Given the description of an element on the screen output the (x, y) to click on. 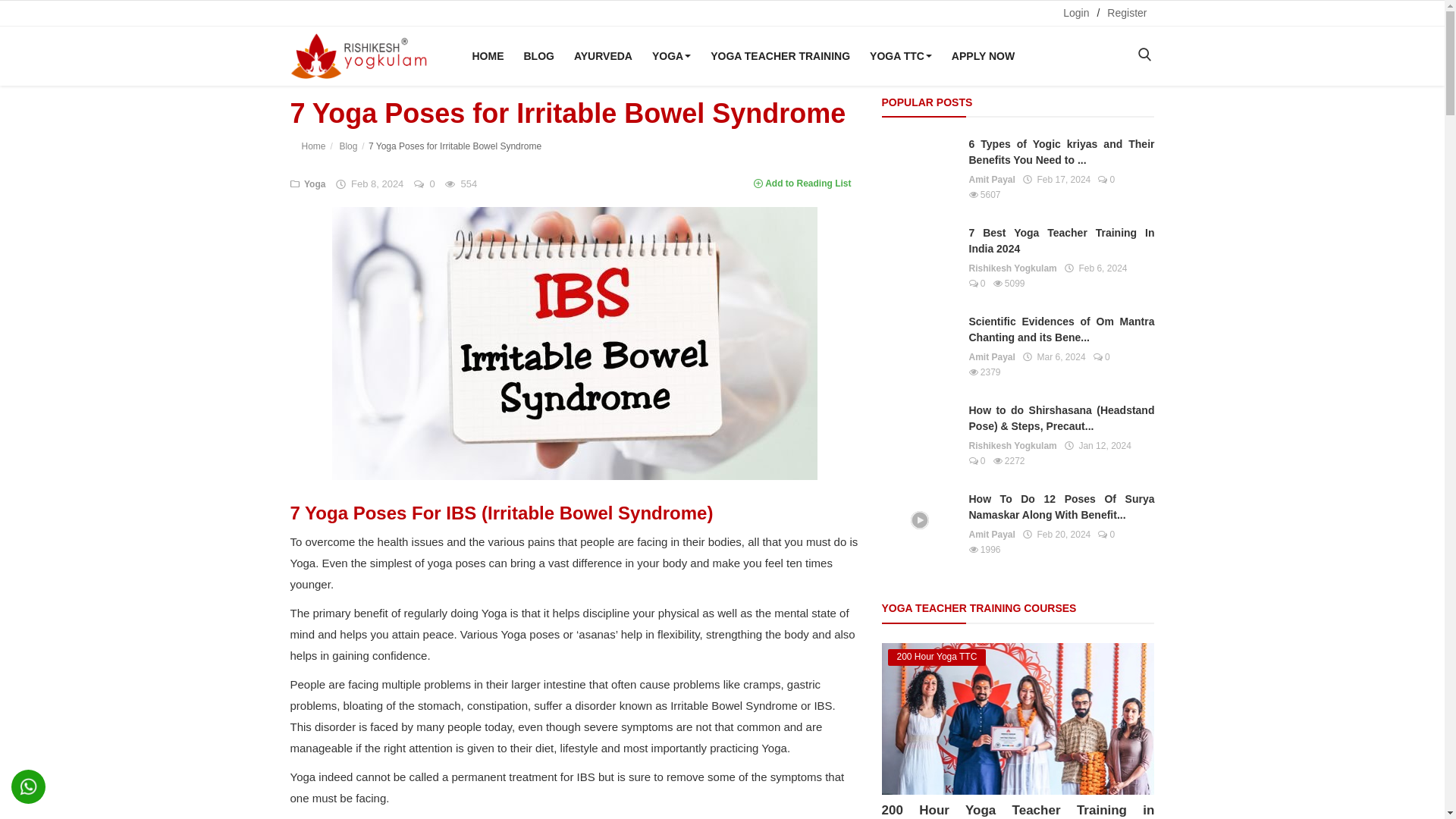
YOGA TEACHER TRAINING (780, 55)
Rishikesh Yogkulam (357, 55)
YOGA TTC (900, 55)
Login - Rishikesh Yogkulam (1075, 13)
Rishikesh Yogkulam (346, 145)
BLOG (537, 55)
Ayurveda (603, 55)
Rishikesh Yogkulam (313, 145)
blog (537, 55)
APPLY NOW (982, 55)
Login (1075, 13)
Yoga Teacher Training (780, 55)
Home (487, 55)
Register - Rishikesh Yogkulam (1126, 13)
Register (1126, 13)
